Given the description of an element on the screen output the (x, y) to click on. 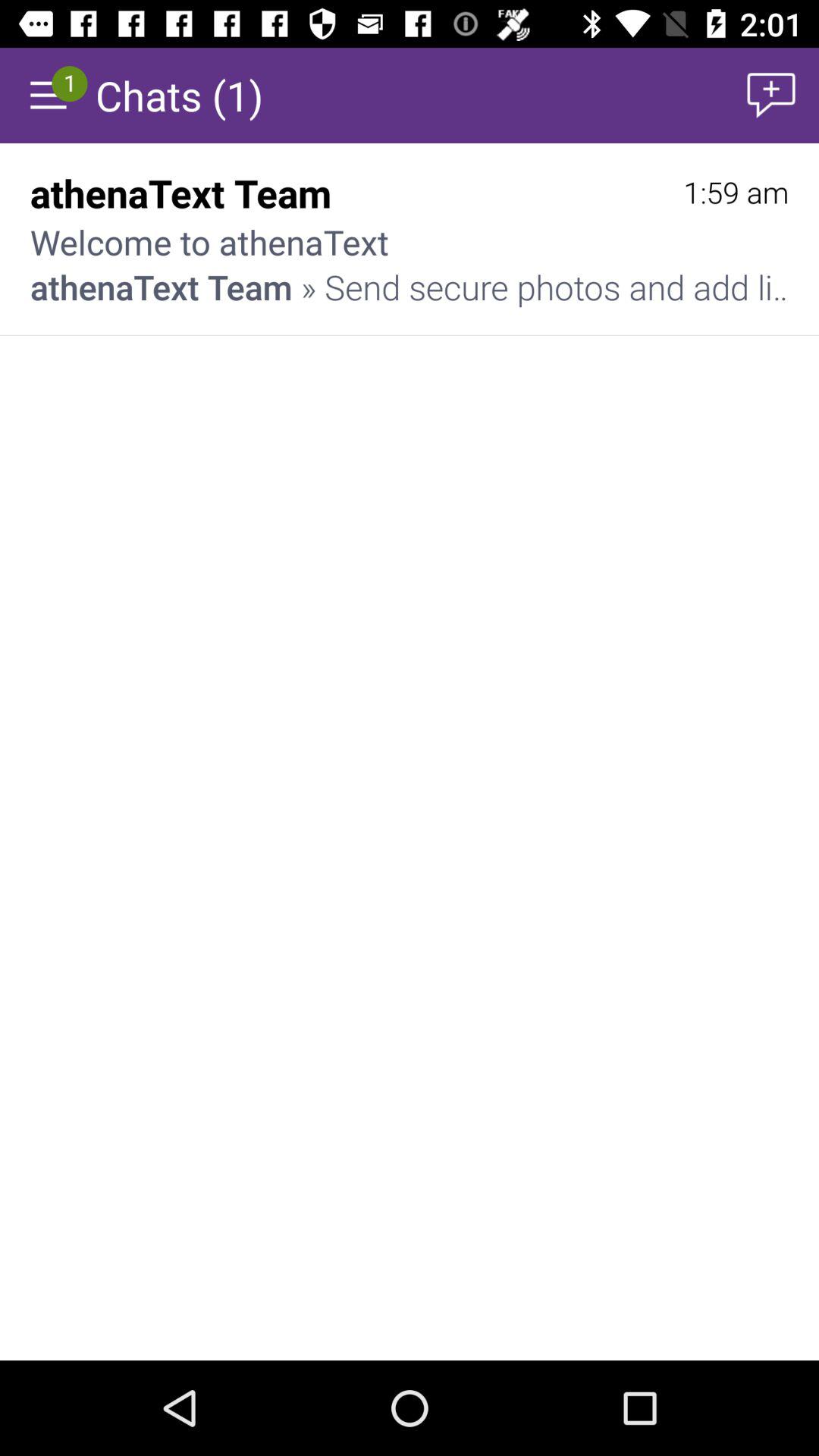
scroll until 1:59 am icon (735, 192)
